Given the description of an element on the screen output the (x, y) to click on. 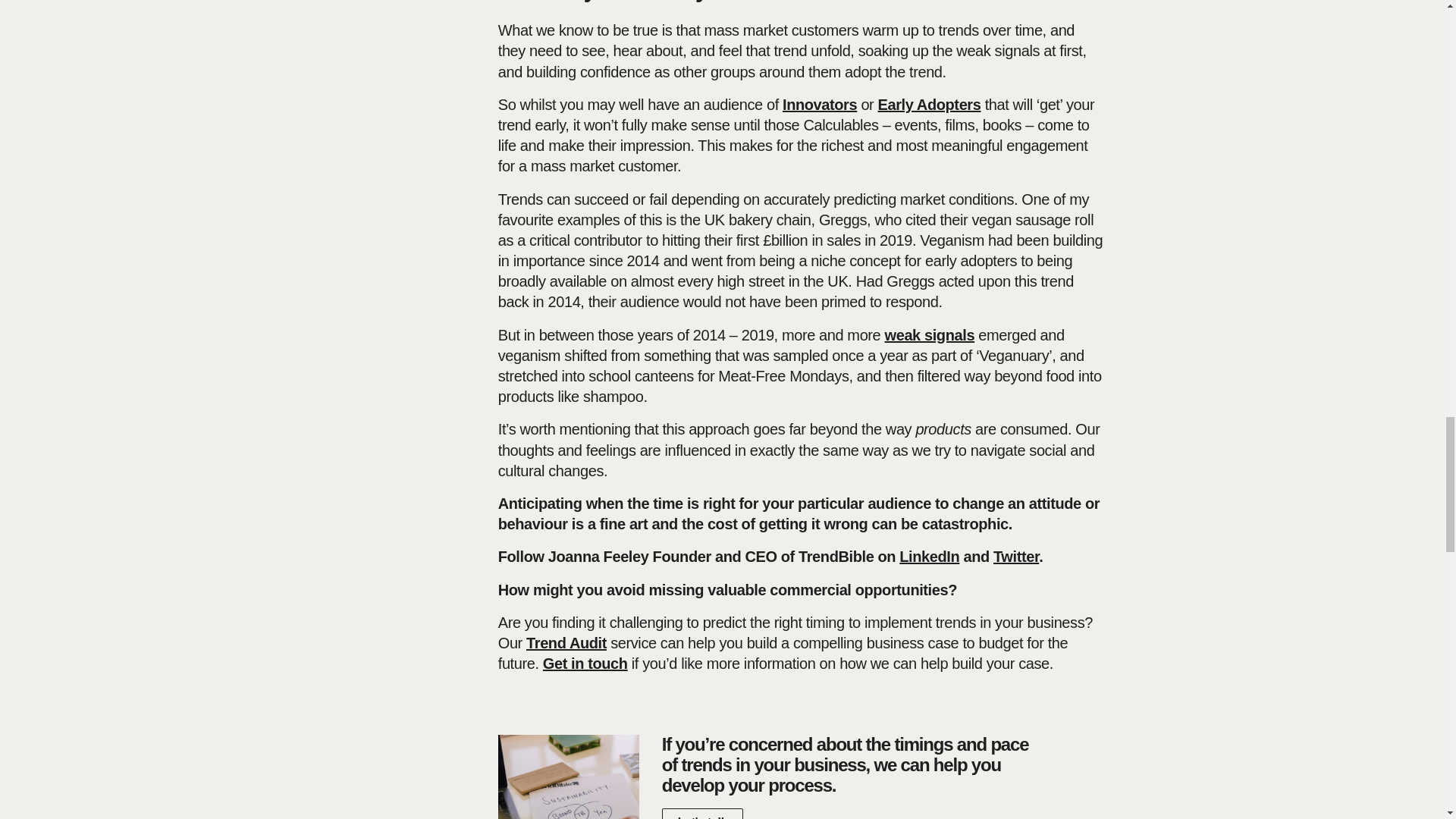
Innovators (820, 104)
weak signals (928, 334)
LinkedIn (929, 556)
Twitter (1015, 556)
Early Adopters (929, 104)
